Given the description of an element on the screen output the (x, y) to click on. 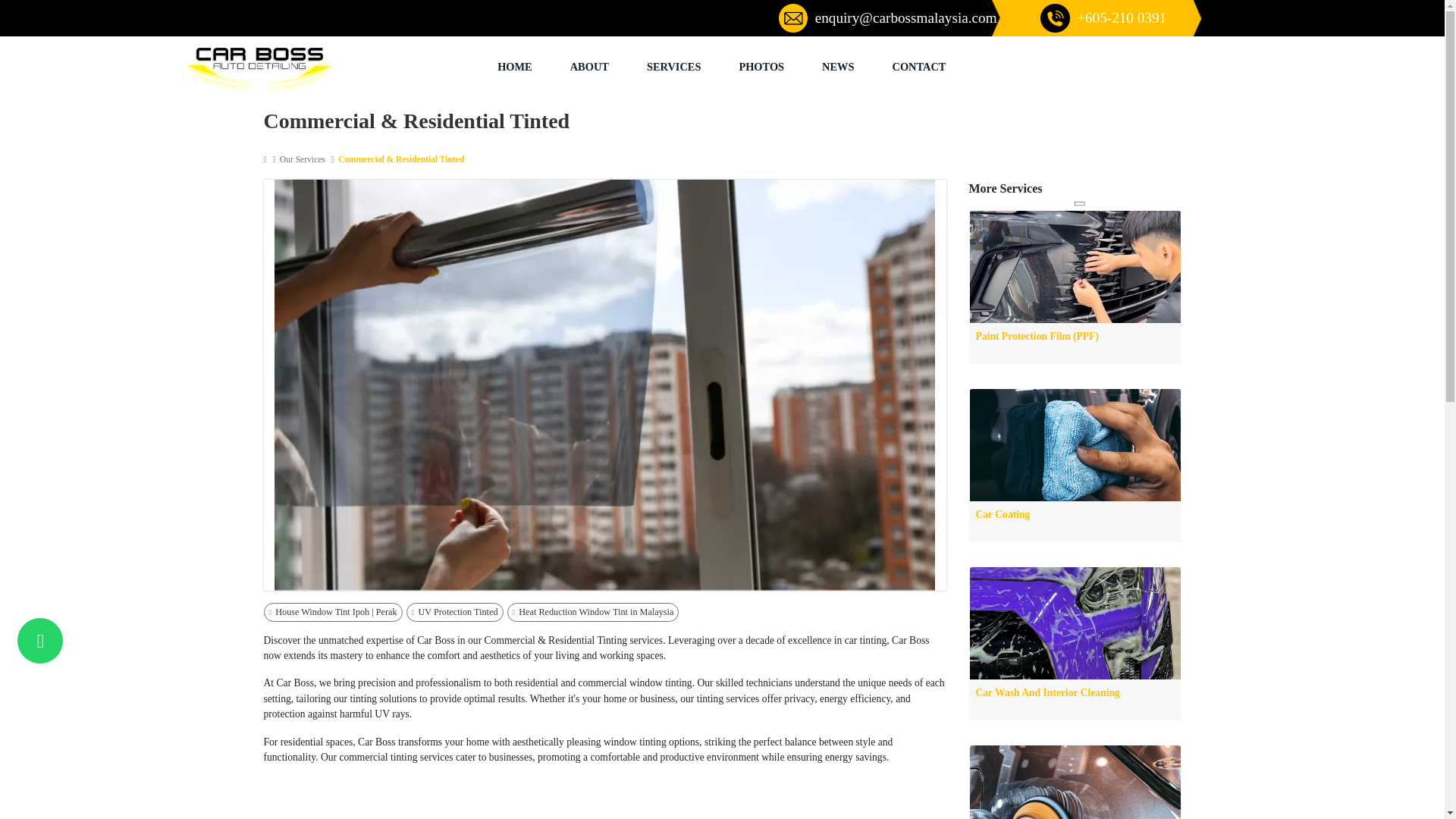
Our Services (303, 159)
Heat Reduction Window Tint in Malaysia (592, 611)
Our Services (303, 159)
Photos (761, 66)
About (589, 66)
News (837, 66)
Car Wash And Interior Cleaning (1074, 643)
CONTACT (919, 66)
Services (673, 66)
NEWS (837, 66)
PHOTOS (761, 66)
ABOUT (589, 66)
HOME (515, 66)
Car Polishing (1074, 782)
Car Coating (1074, 465)
